Given the description of an element on the screen output the (x, y) to click on. 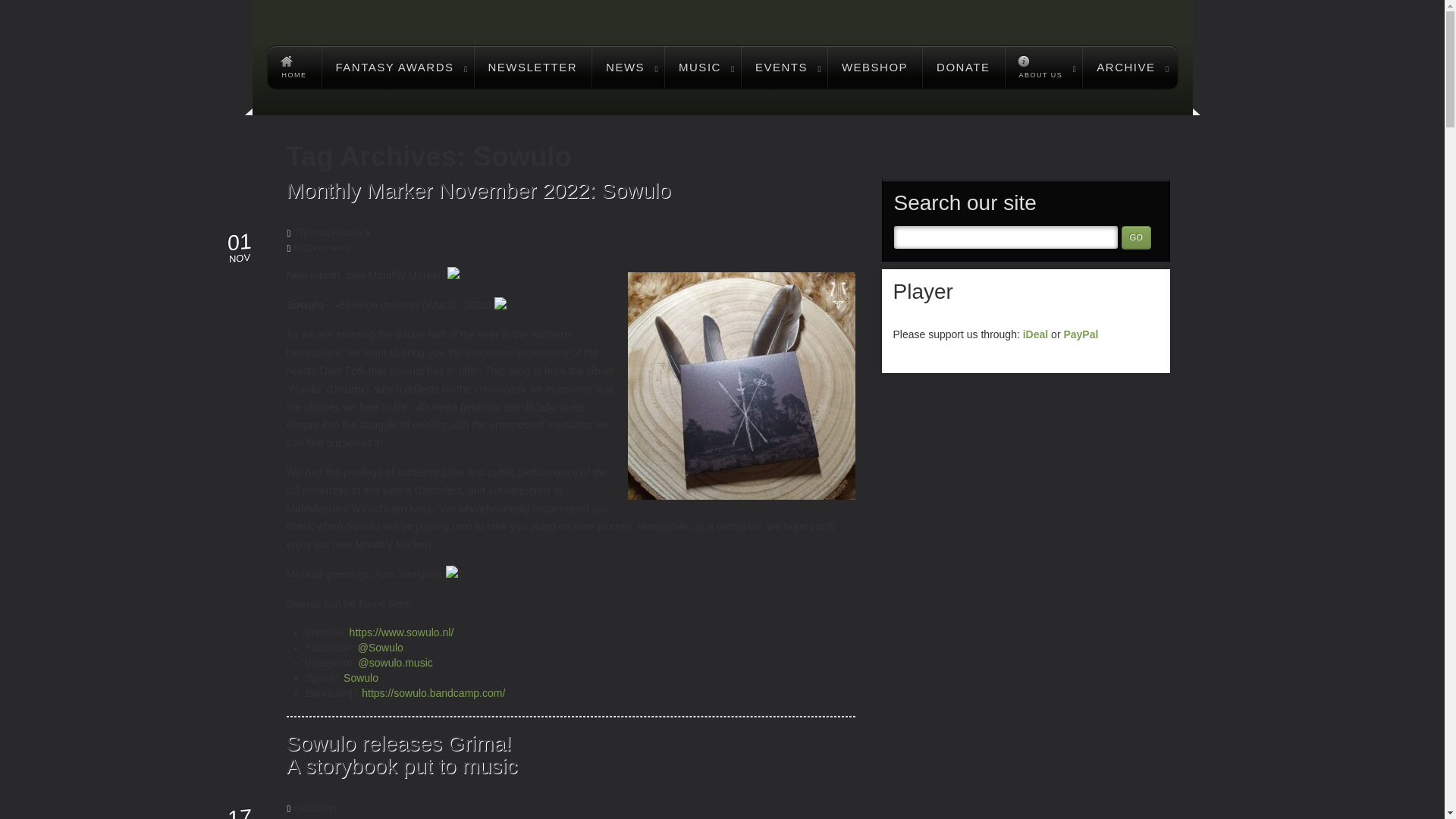
 ABOUT US (1042, 66)
MUSIC (702, 66)
FANTASY AWARDS (397, 66)
NEWSLETTER (533, 66)
NEWS (627, 66)
WEBSHOP (874, 66)
 HOME (293, 66)
ARCHIVE (1127, 66)
EVENTS (784, 66)
Go (1135, 237)
DONATE (962, 66)
